Given the description of an element on the screen output the (x, y) to click on. 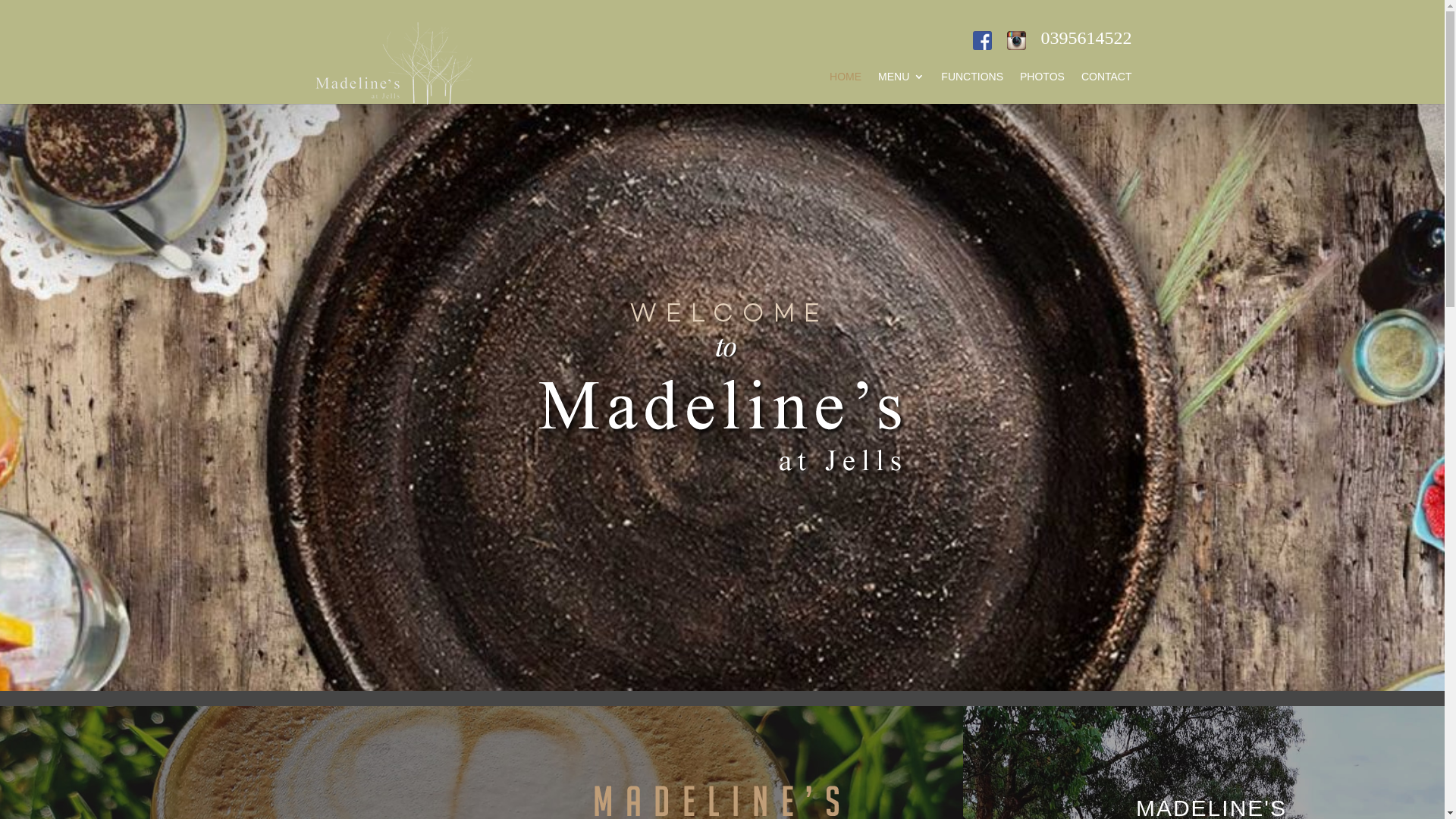
0395614522 Element type: text (1085, 37)
PHOTOS Element type: text (1041, 87)
CONTACT Element type: text (1106, 87)
FUNCTIONS Element type: text (972, 87)
HOME Element type: text (845, 87)
MENU Element type: text (901, 87)
